Given the description of an element on the screen output the (x, y) to click on. 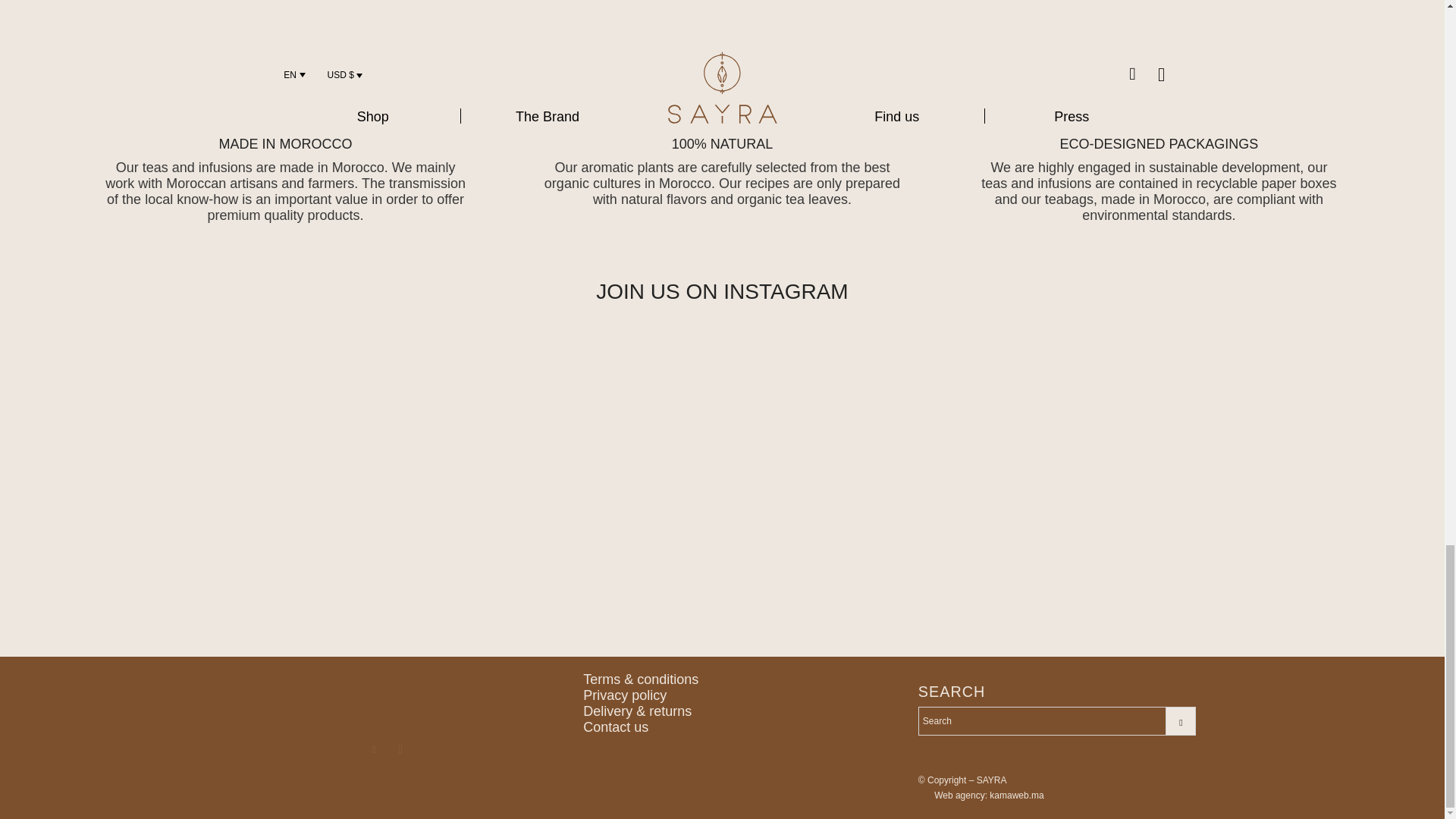
sayra-logo-white (386, 697)
